Given the description of an element on the screen output the (x, y) to click on. 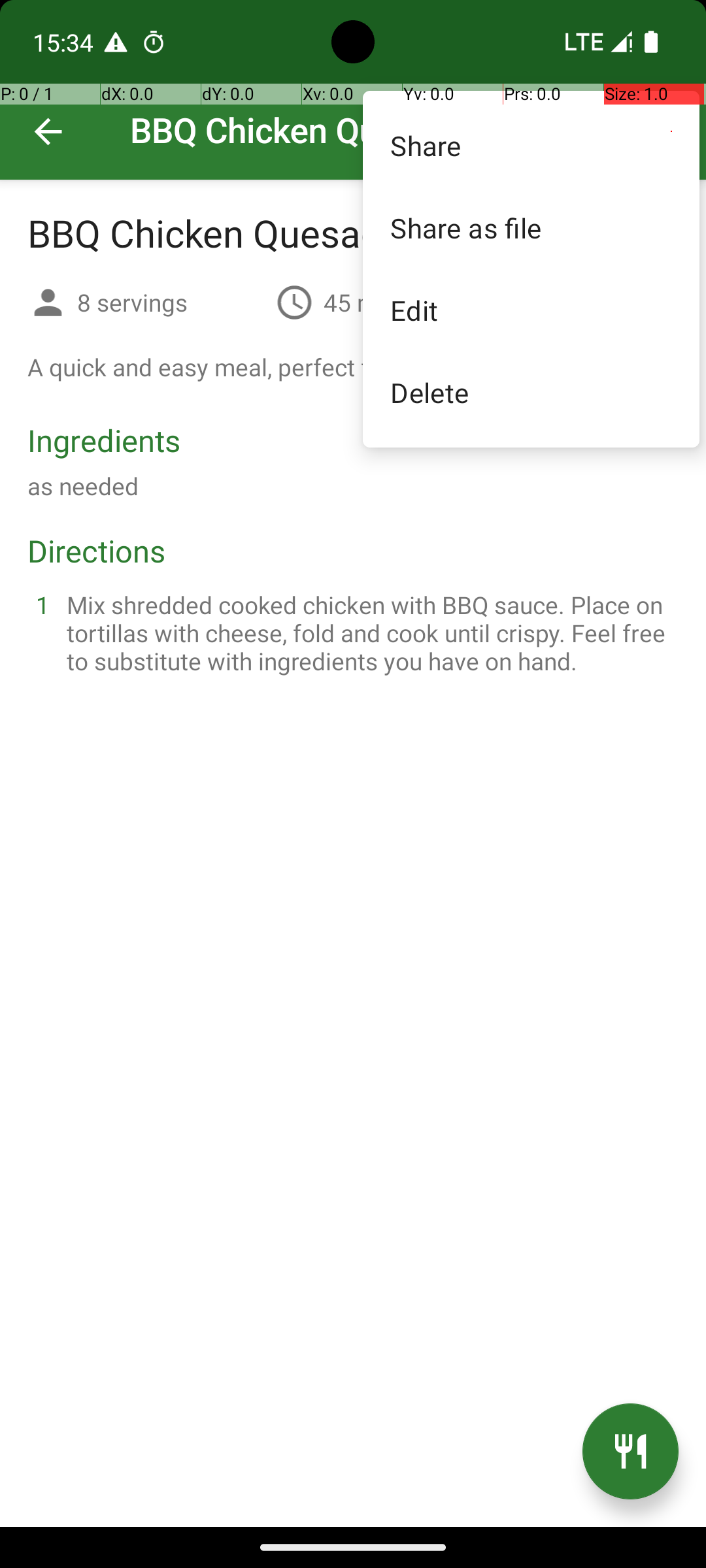
Share as file Element type: android.widget.TextView (531, 227)
